Given the description of an element on the screen output the (x, y) to click on. 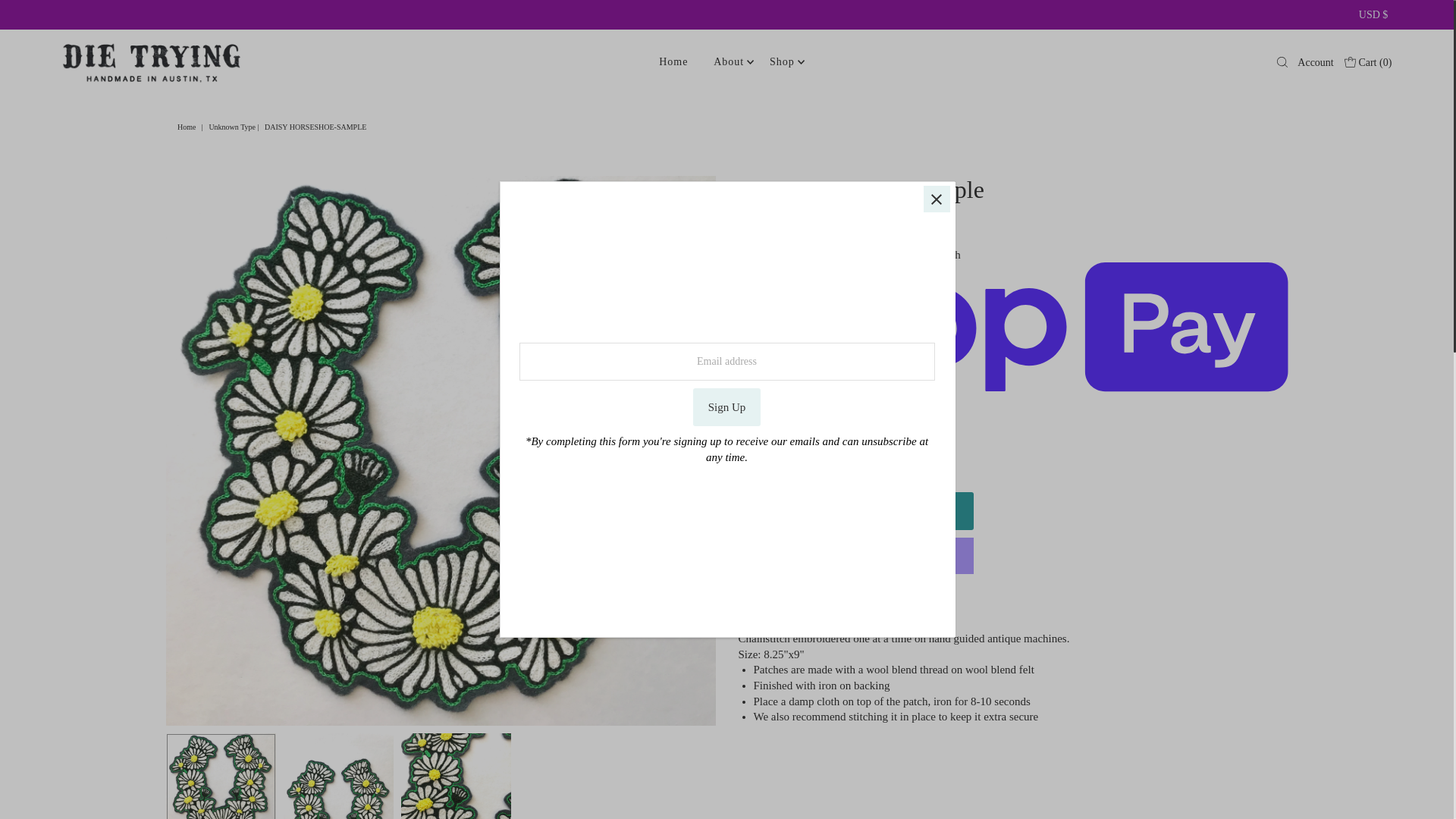
Sign Up (727, 406)
Click to zoom (691, 200)
Home (672, 61)
About (728, 61)
Home (188, 126)
Shop (782, 61)
1 (775, 460)
Sold Out (856, 510)
